Given the description of an element on the screen output the (x, y) to click on. 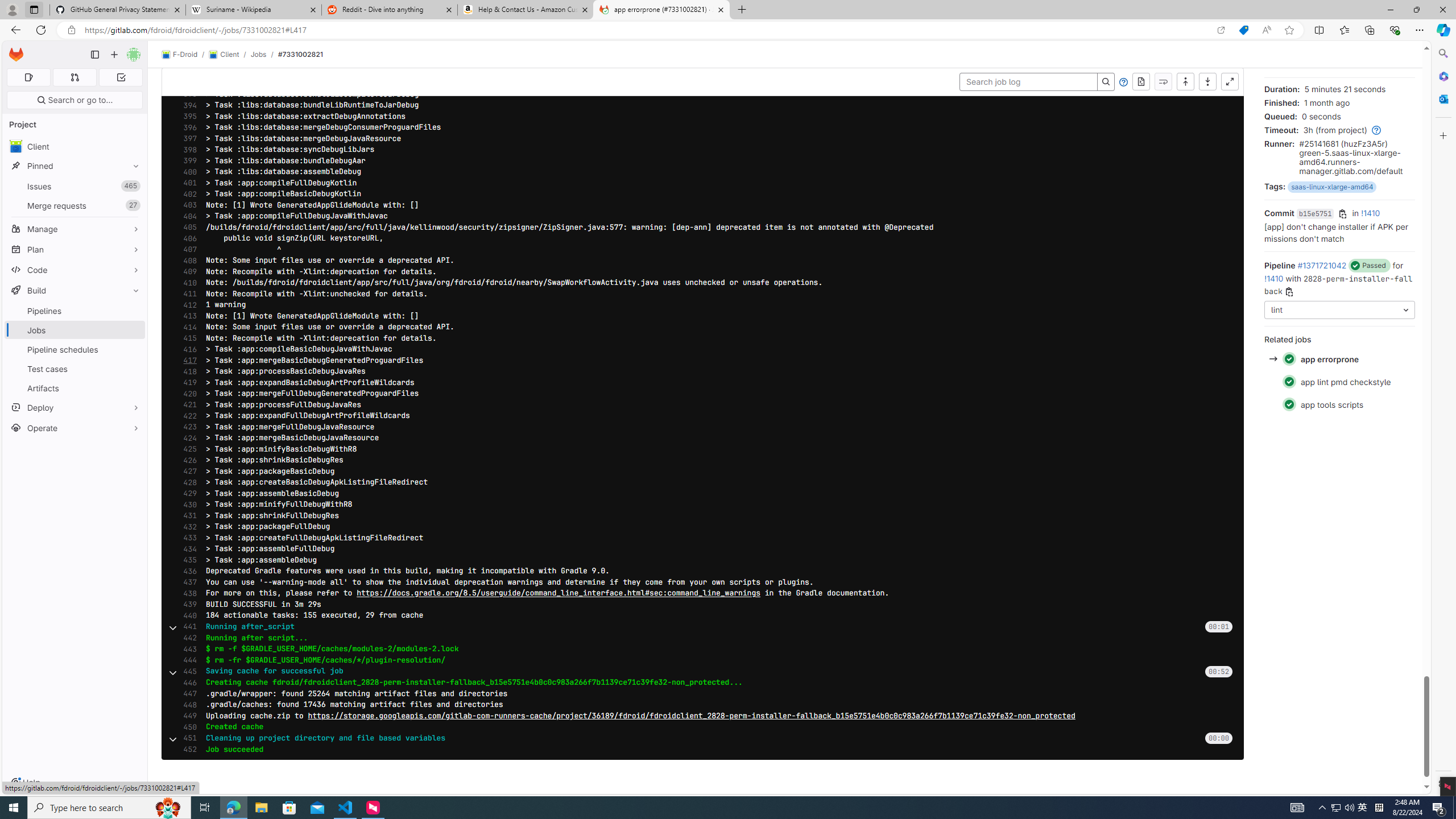
!1410 (1273, 278)
Scroll to next failure (1163, 81)
Pin Artifacts (132, 387)
432 (186, 526)
Issues 465 (74, 185)
Scroll to top (1184, 81)
416 (186, 349)
Code (74, 269)
Shopping in Microsoft Edge (1243, 29)
Copy branch name (1288, 291)
Jobs (74, 330)
To-Do list 0 (120, 76)
